Given the description of an element on the screen output the (x, y) to click on. 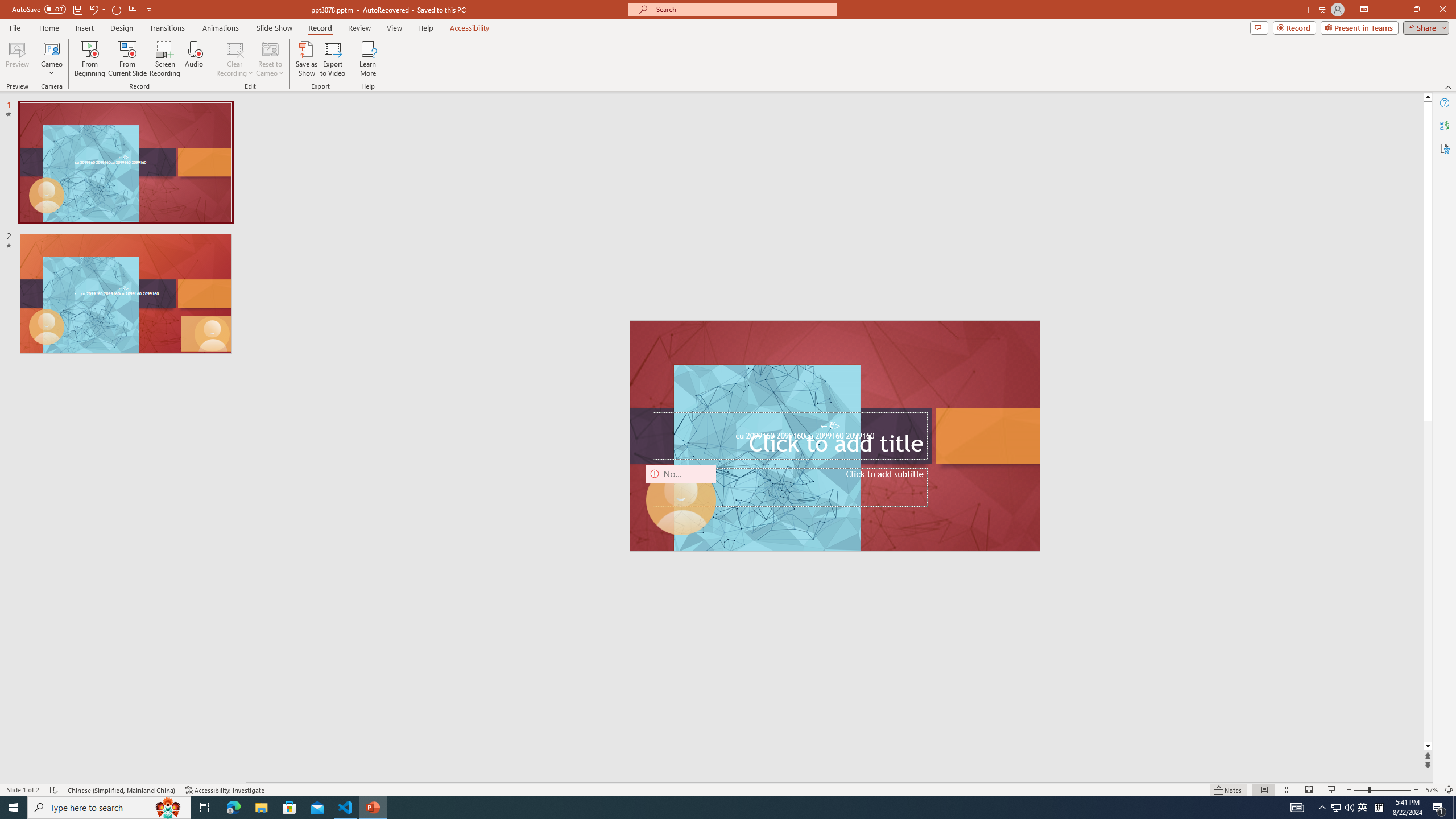
Export to Video (332, 58)
